Given the description of an element on the screen output the (x, y) to click on. 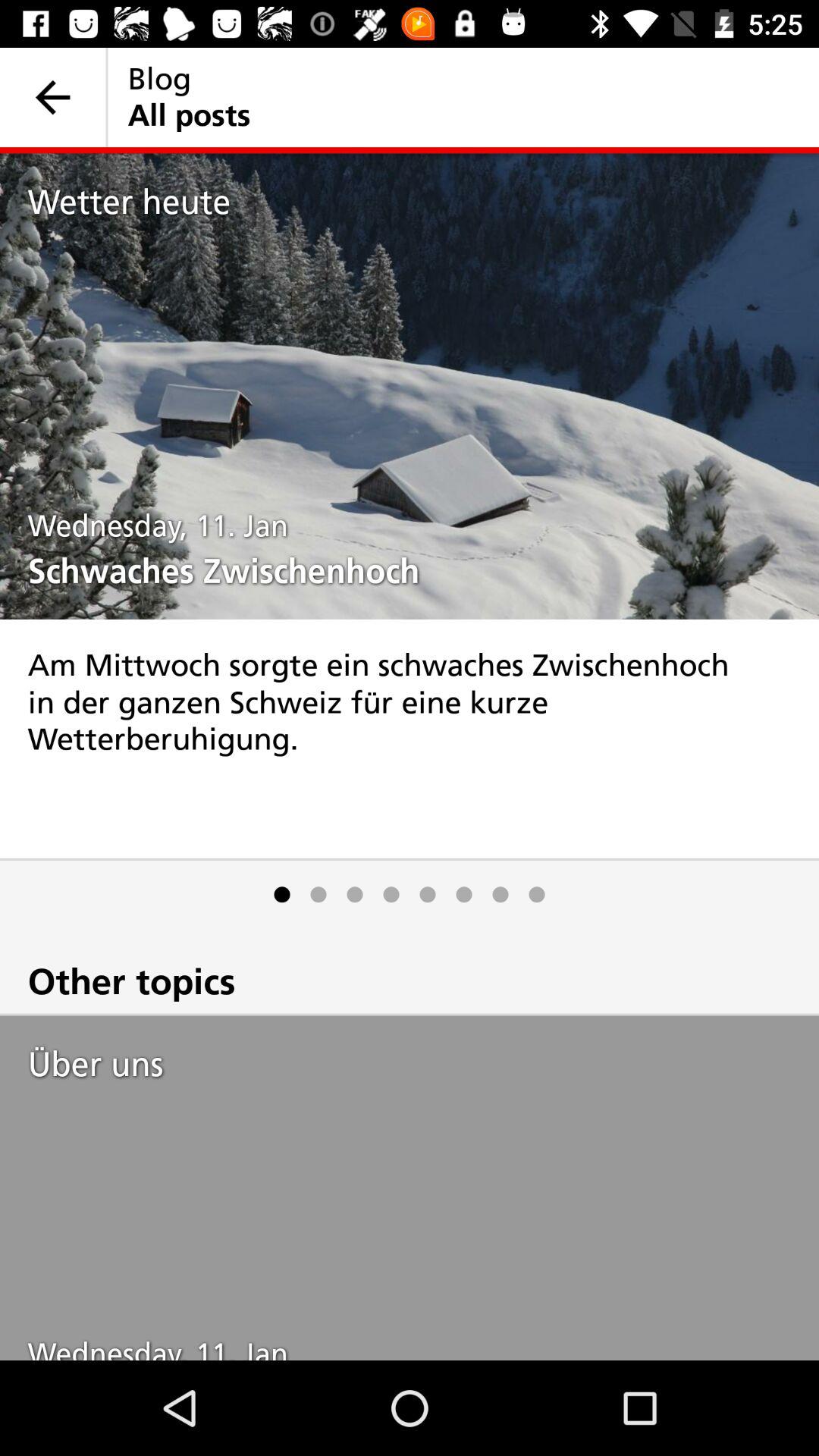
open the item below the am mittwoch sorgte icon (500, 894)
